Given the description of an element on the screen output the (x, y) to click on. 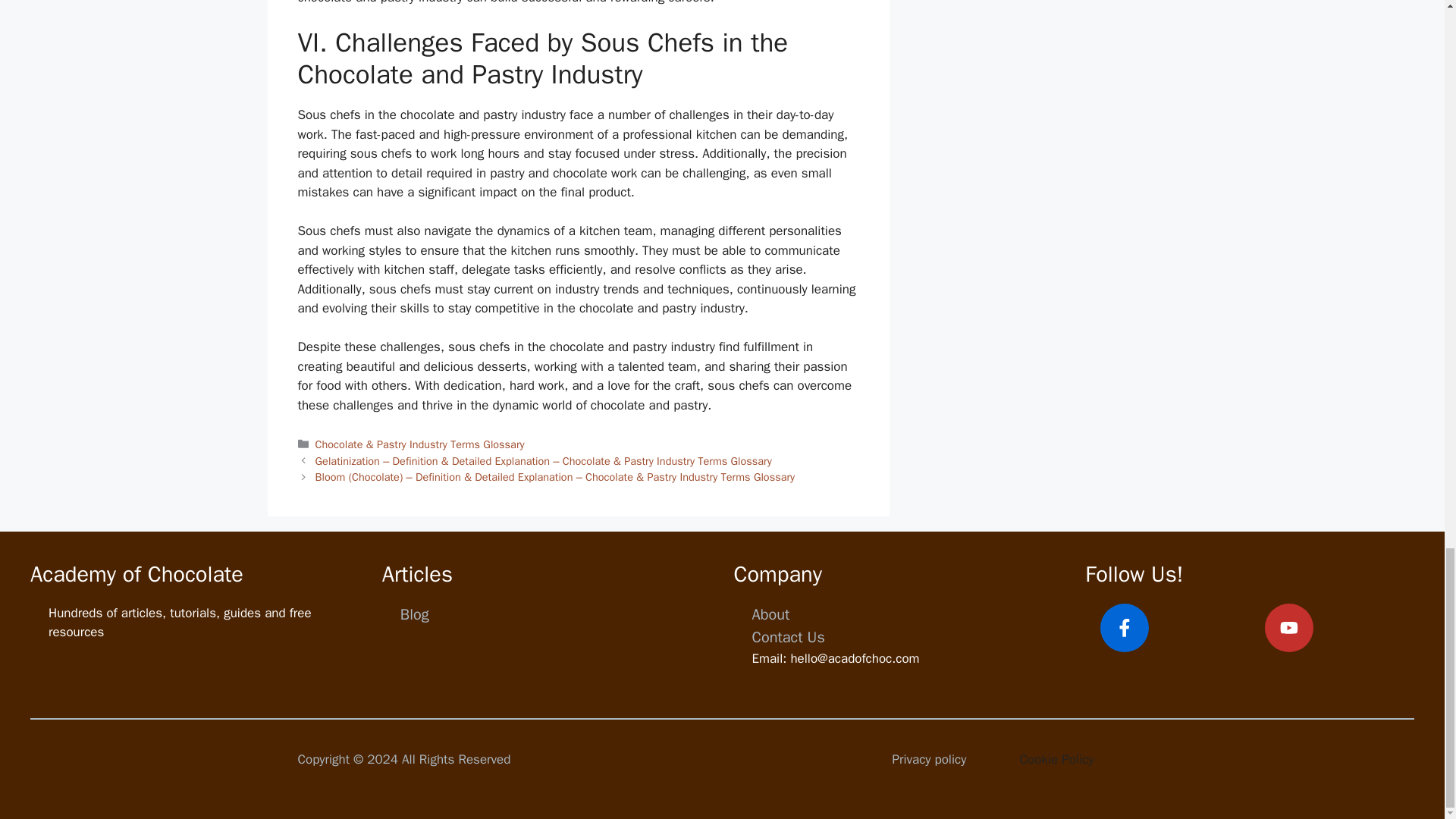
Contact Us (788, 637)
Blog (414, 614)
Academy of Chocolate (136, 574)
About (771, 614)
